Given the description of an element on the screen output the (x, y) to click on. 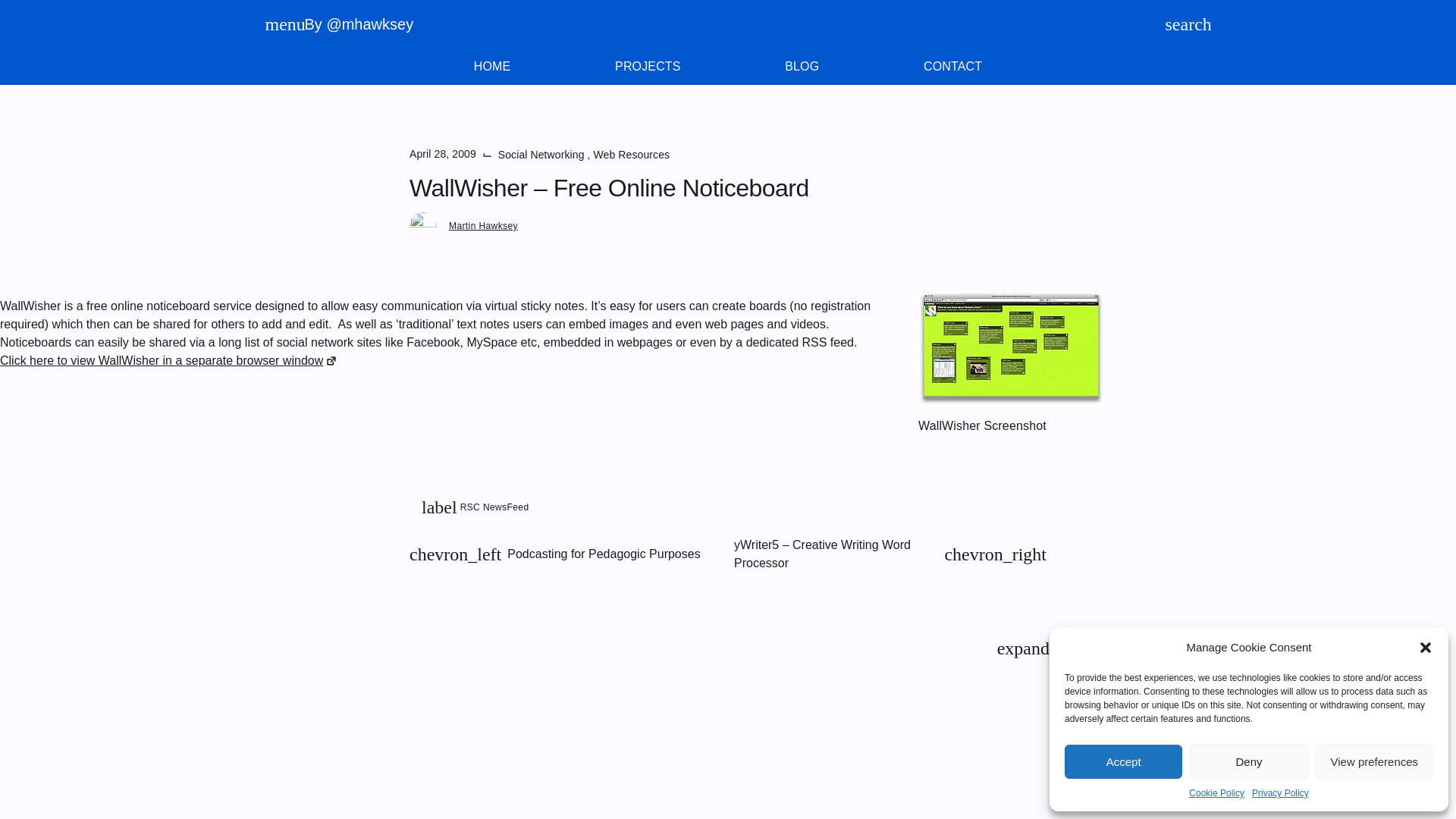
search (727, 66)
BLOG (1174, 23)
PROJECTS (801, 66)
WallWisher Screenshot (727, 66)
HOME (647, 66)
Web Resources (1010, 348)
Click here to view WallWisher in a separate browser window (492, 66)
menu (631, 154)
CONTACT (727, 66)
Social Networking (168, 359)
Martin Hawksey (274, 23)
April 28, 2009 (951, 66)
